Given the description of an element on the screen output the (x, y) to click on. 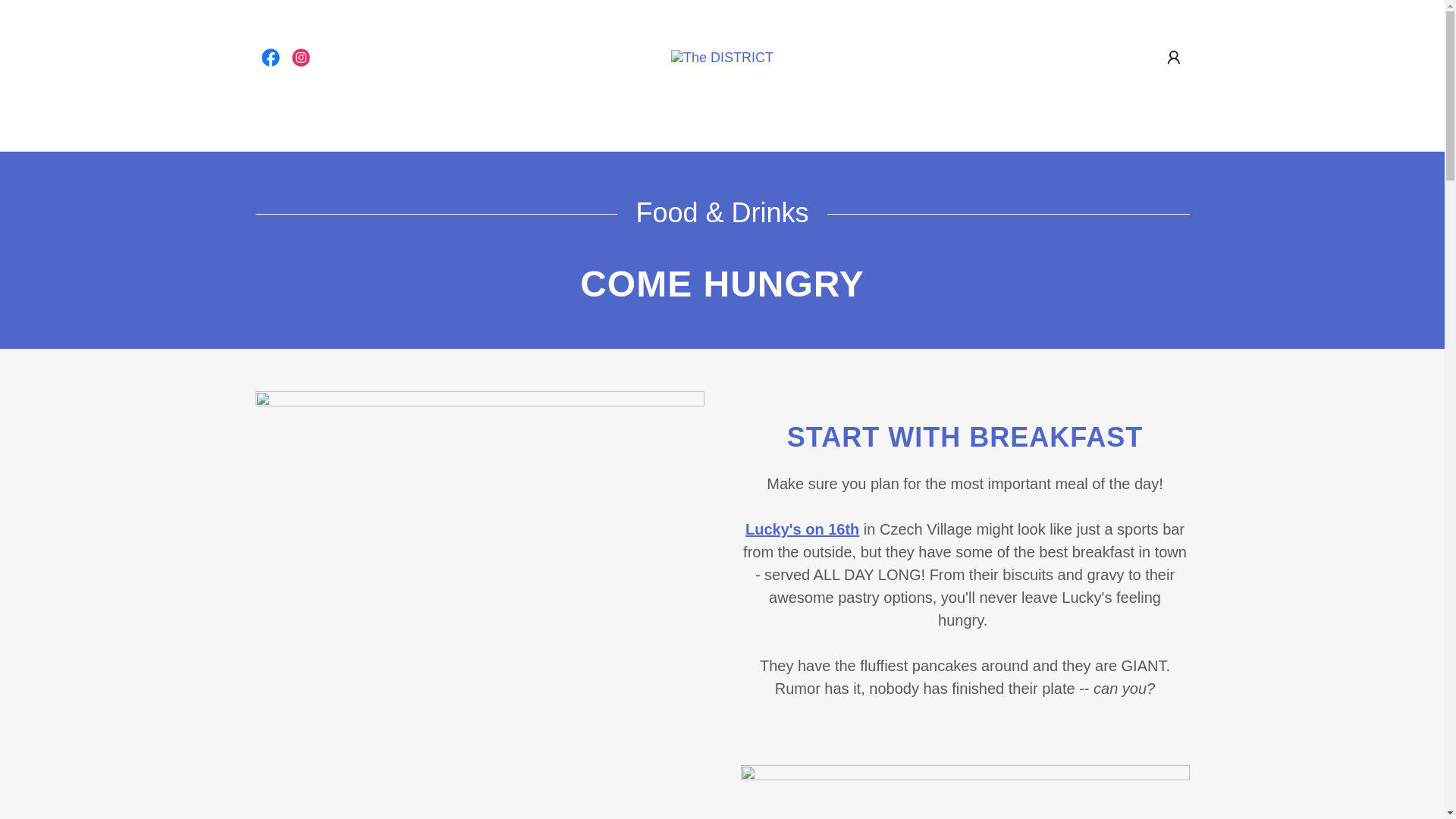
The DISTRICT (722, 56)
